Given the description of an element on the screen output the (x, y) to click on. 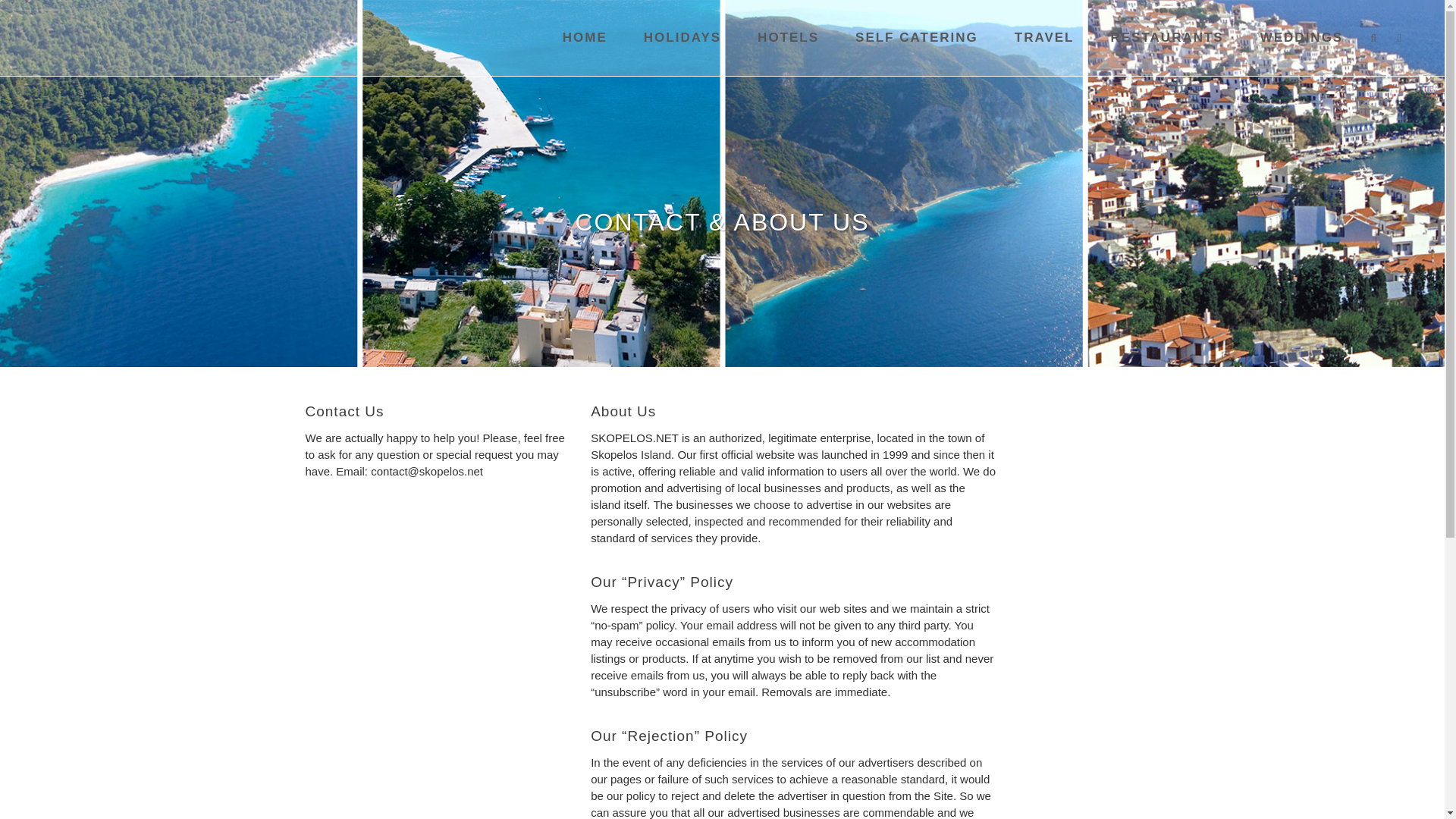
HOLIDAYS (682, 38)
HOME (585, 38)
